Given the description of an element on the screen output the (x, y) to click on. 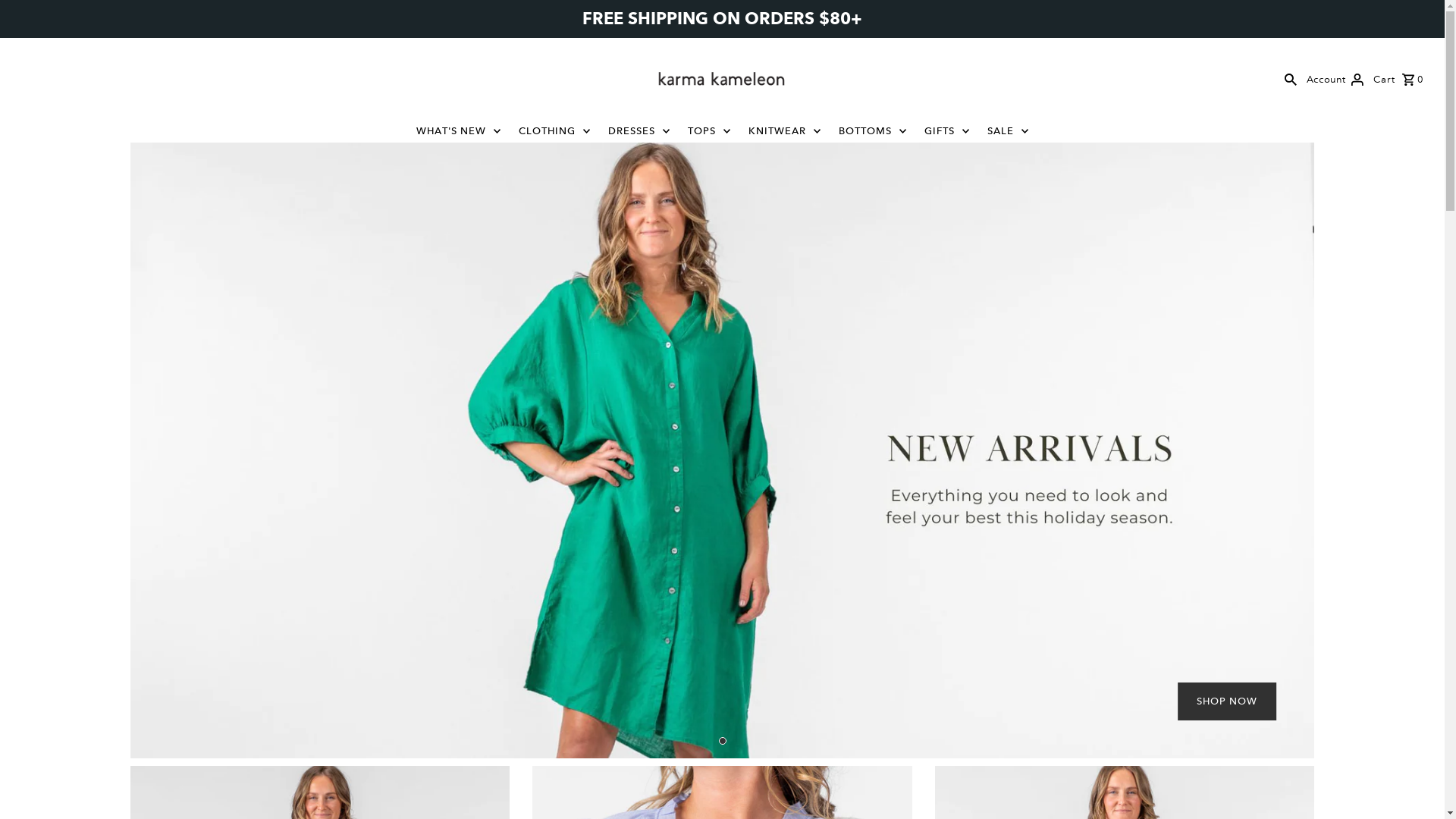
GIFTS Element type: text (946, 130)
BOTTOMS Element type: text (872, 130)
TOPS Element type: text (708, 130)
DRESSES Element type: text (638, 130)
WHAT'S NEW Element type: text (457, 130)
KNITWEAR Element type: text (784, 130)
SHOP NOW Element type: text (1226, 701)
CLOTHING Element type: text (554, 130)
SALE Element type: text (1007, 130)
